Given the description of an element on the screen output the (x, y) to click on. 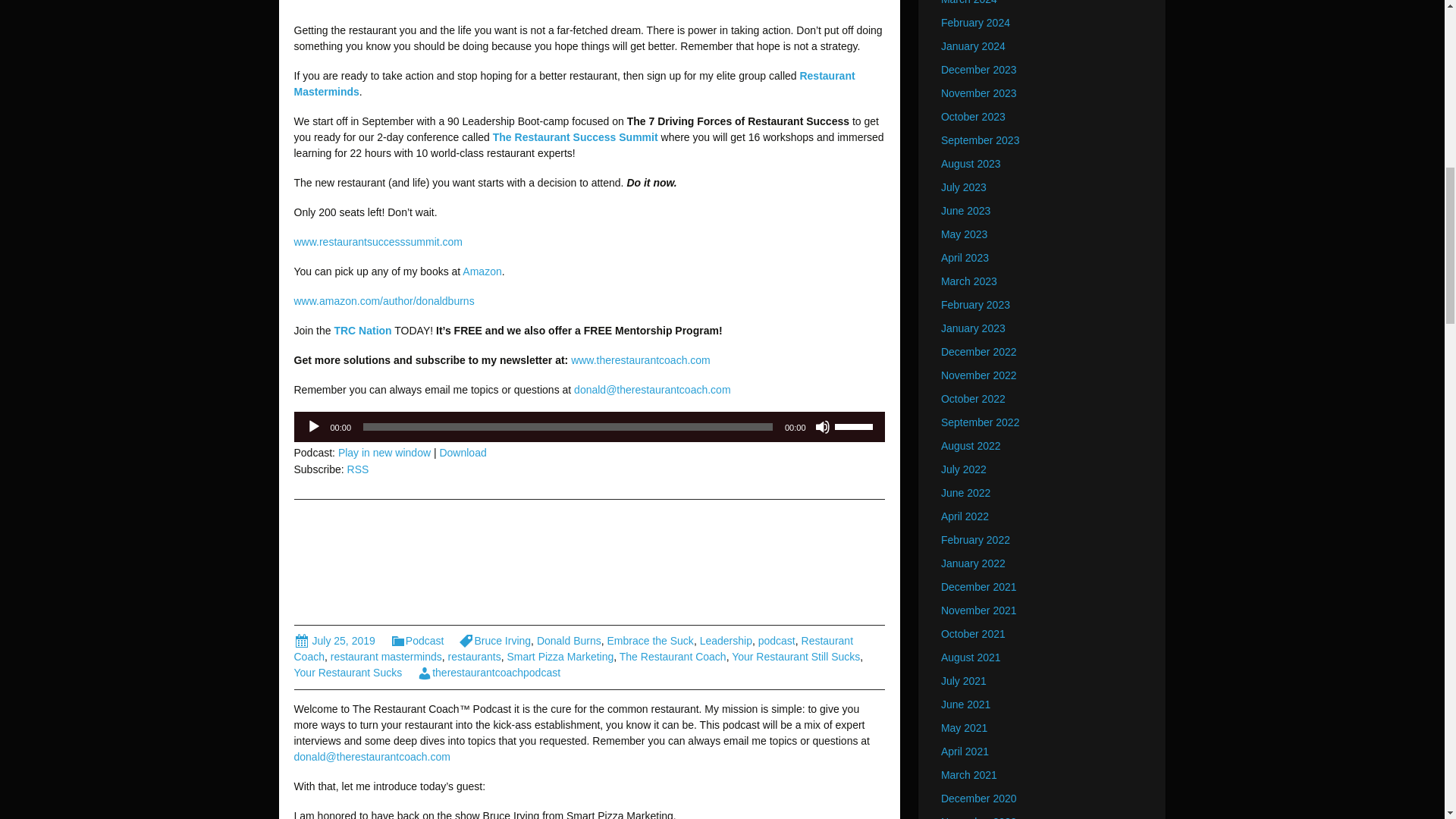
Restaurant Masterminds (575, 83)
Play (313, 426)
View all posts by therestaurantcoachpodcast (488, 672)
www.restaurantsuccesssummit.com (378, 241)
Play in new window (383, 452)
Amazon (481, 271)
TRC Nation (362, 330)
The Restaurant Success Summit (575, 137)
Mute (821, 426)
www.therestaurantcoach.com (640, 359)
Subscribe via RSS (358, 469)
Download (462, 452)
